Given the description of an element on the screen output the (x, y) to click on. 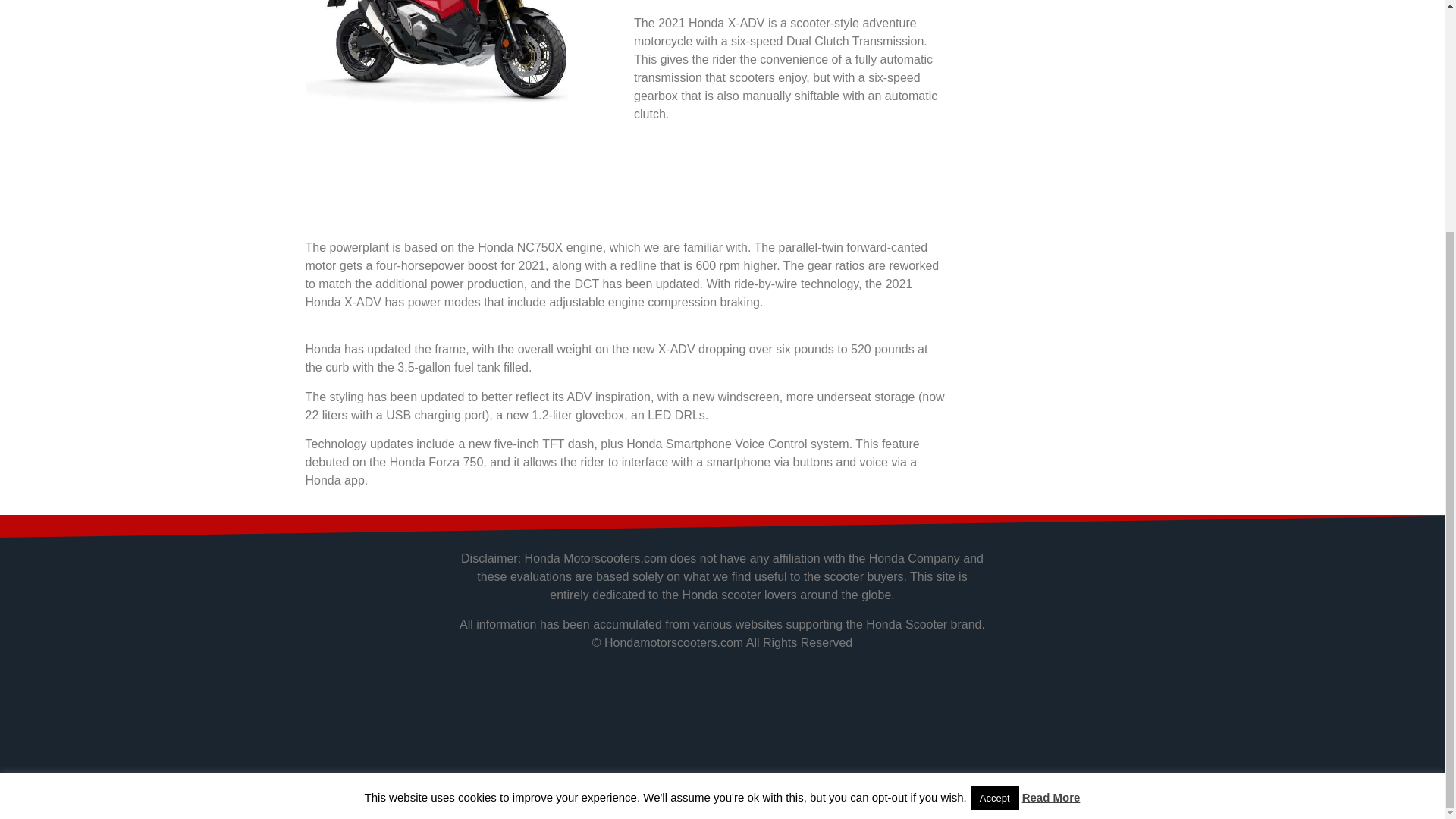
Advertisement (625, 183)
